Given the description of an element on the screen output the (x, y) to click on. 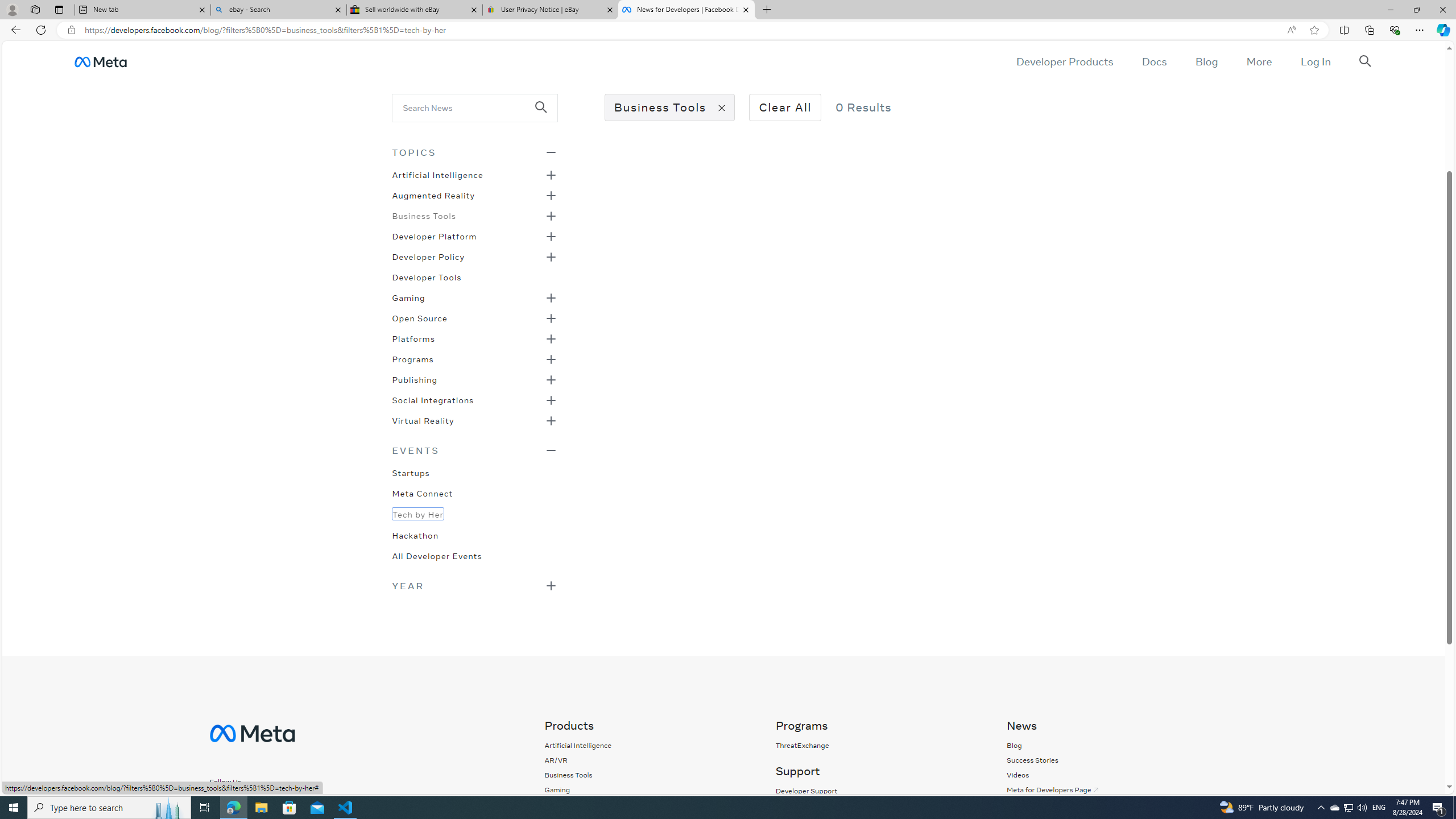
Artificial Intelligence (437, 173)
Business Tools (577, 774)
Class: _58al (467, 107)
Developer Support (805, 790)
Meta for Developers Page (1110, 789)
Class: _9890 _98ey (474, 450)
